Given the description of an element on the screen output the (x, y) to click on. 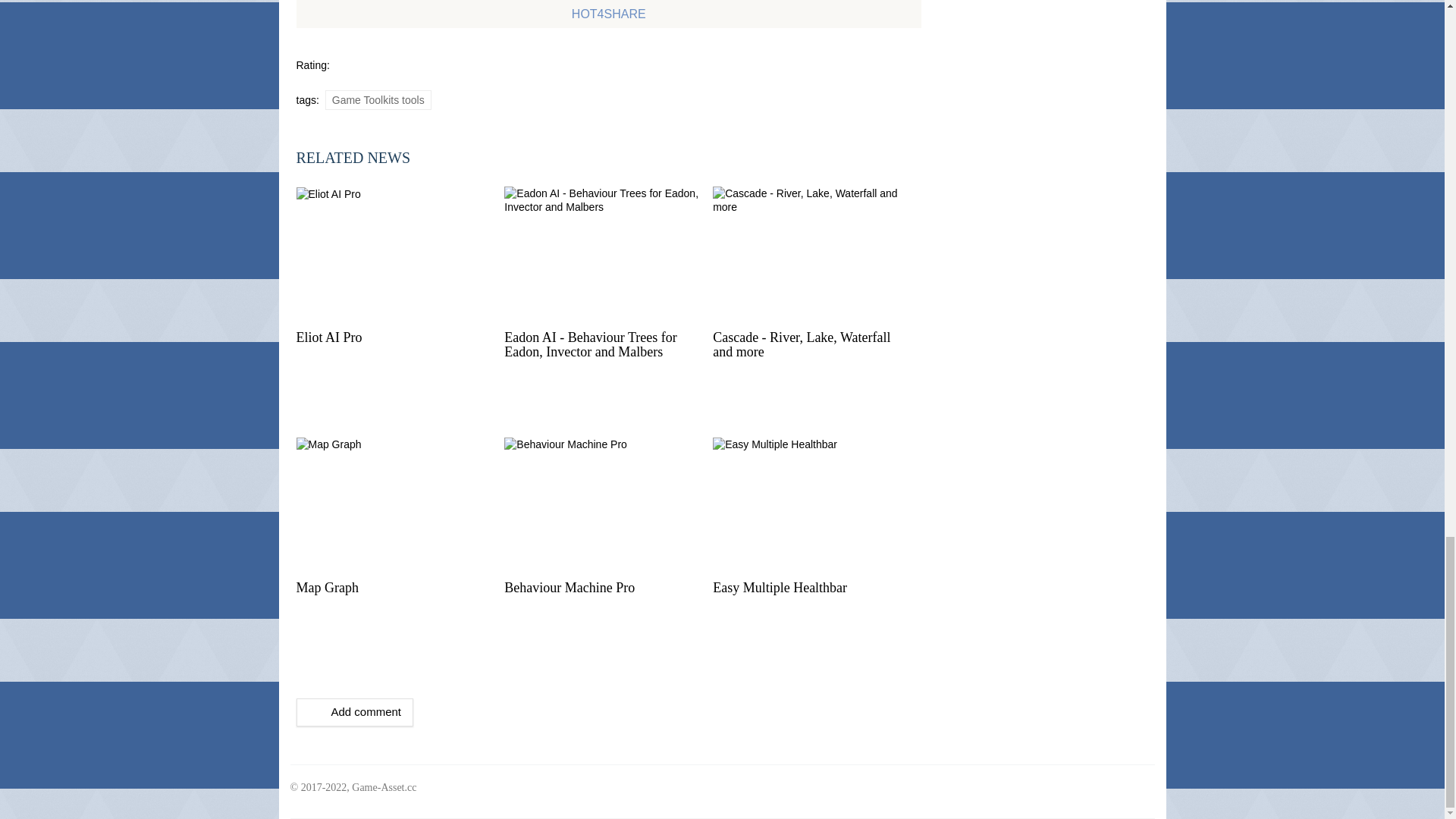
Useless (301, 79)
Good (340, 79)
Poor (314, 79)
Excellent (353, 79)
Fair (327, 79)
